Given the description of an element on the screen output the (x, y) to click on. 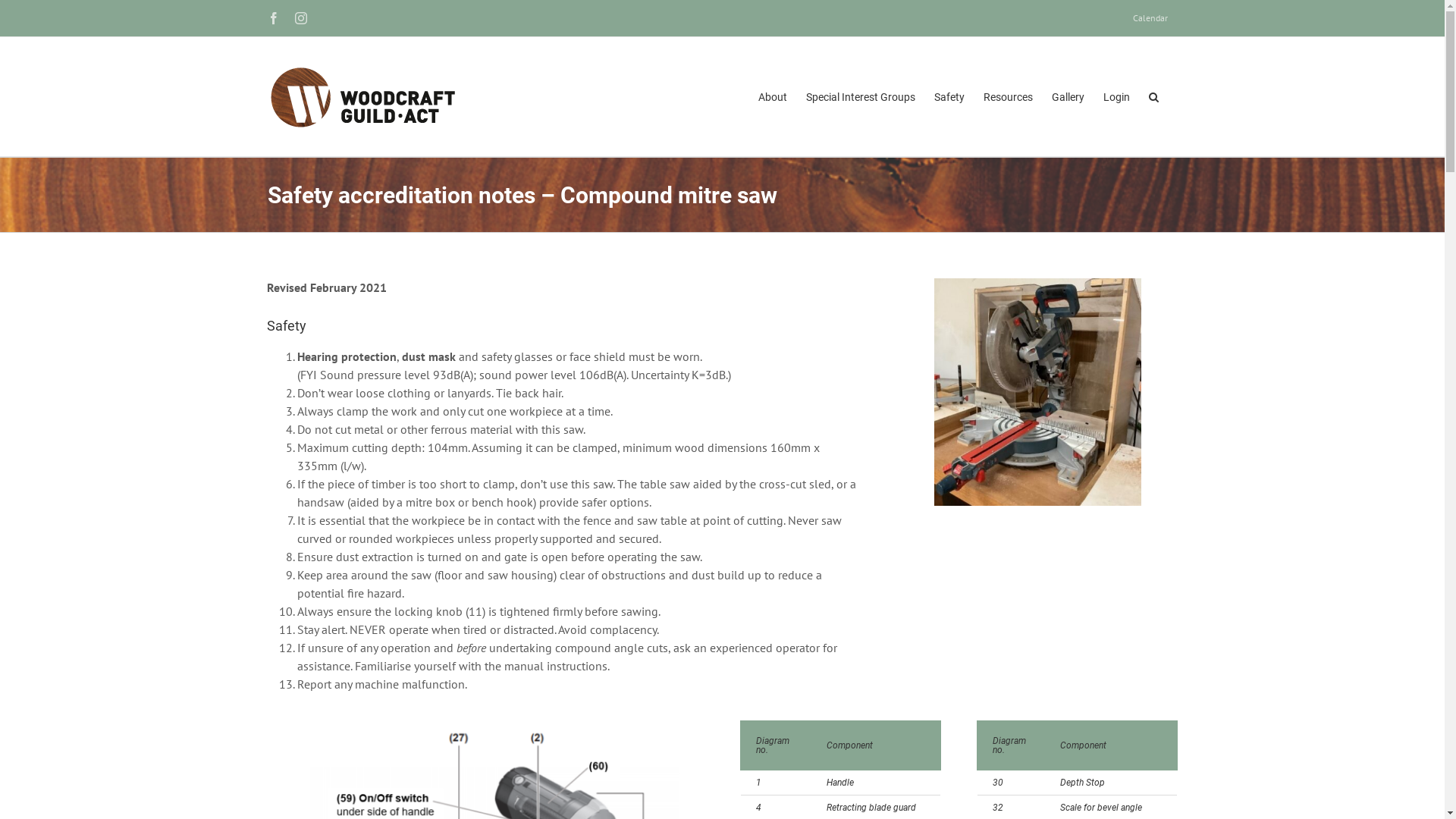
Safety Element type: text (949, 96)
Login Element type: text (1115, 96)
Special Interest Groups Element type: text (859, 96)
Resources Element type: text (1007, 96)
Calendar Element type: text (1149, 18)
Instagram Element type: text (300, 18)
Search Element type: hover (1152, 96)
Picture1 Element type: hover (1037, 391)
Facebook Element type: text (272, 18)
Gallery Element type: text (1067, 96)
About Element type: text (772, 96)
